Given the description of an element on the screen output the (x, y) to click on. 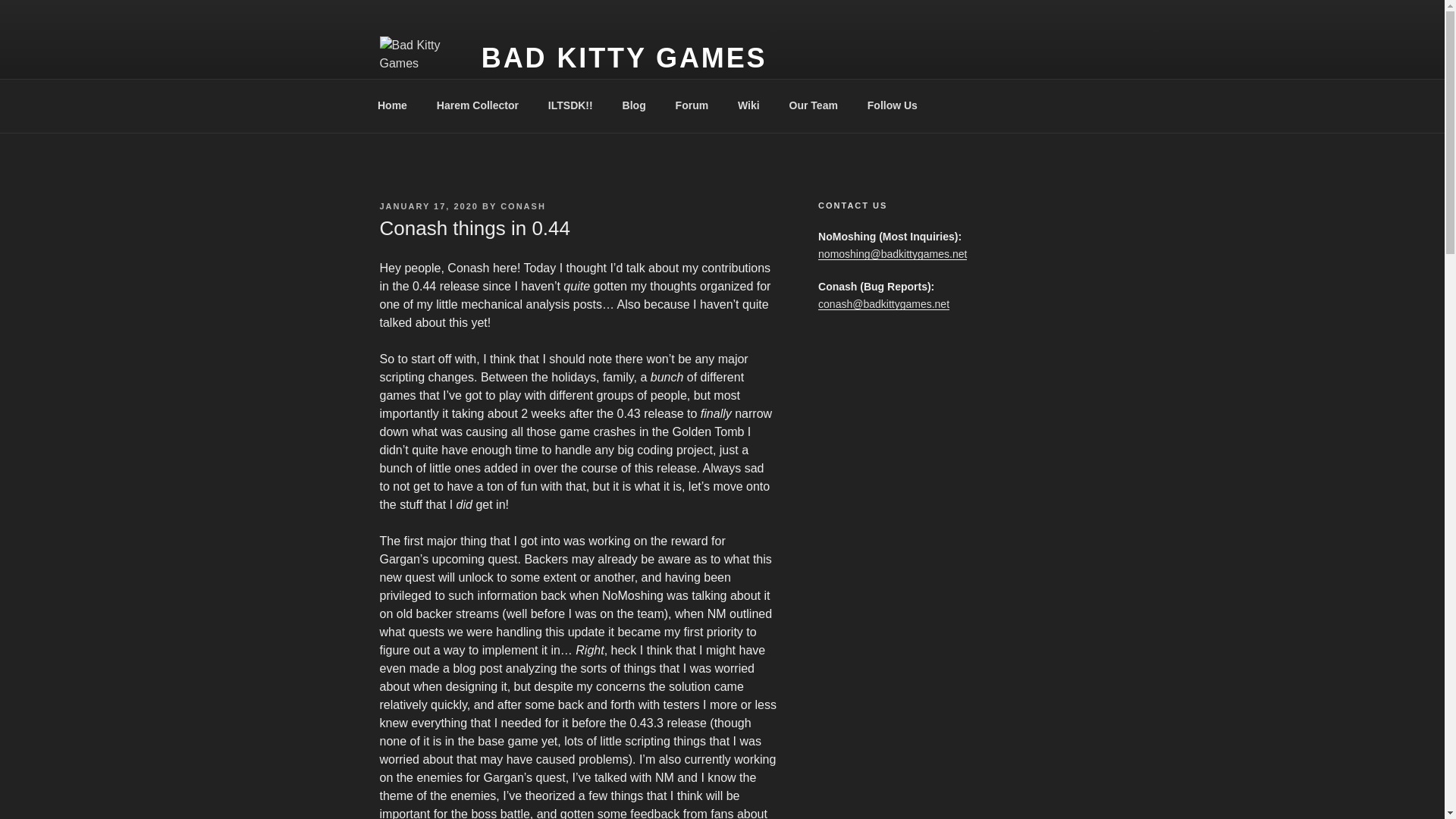
Our Team (813, 105)
JANUARY 17, 2020 (427, 205)
Harem Collector (477, 105)
Home (392, 105)
ILTSDK!! (569, 105)
Blog (633, 105)
Follow Us (896, 105)
Forum (692, 105)
Wiki (749, 105)
BAD KITTY GAMES (624, 57)
